Given the description of an element on the screen output the (x, y) to click on. 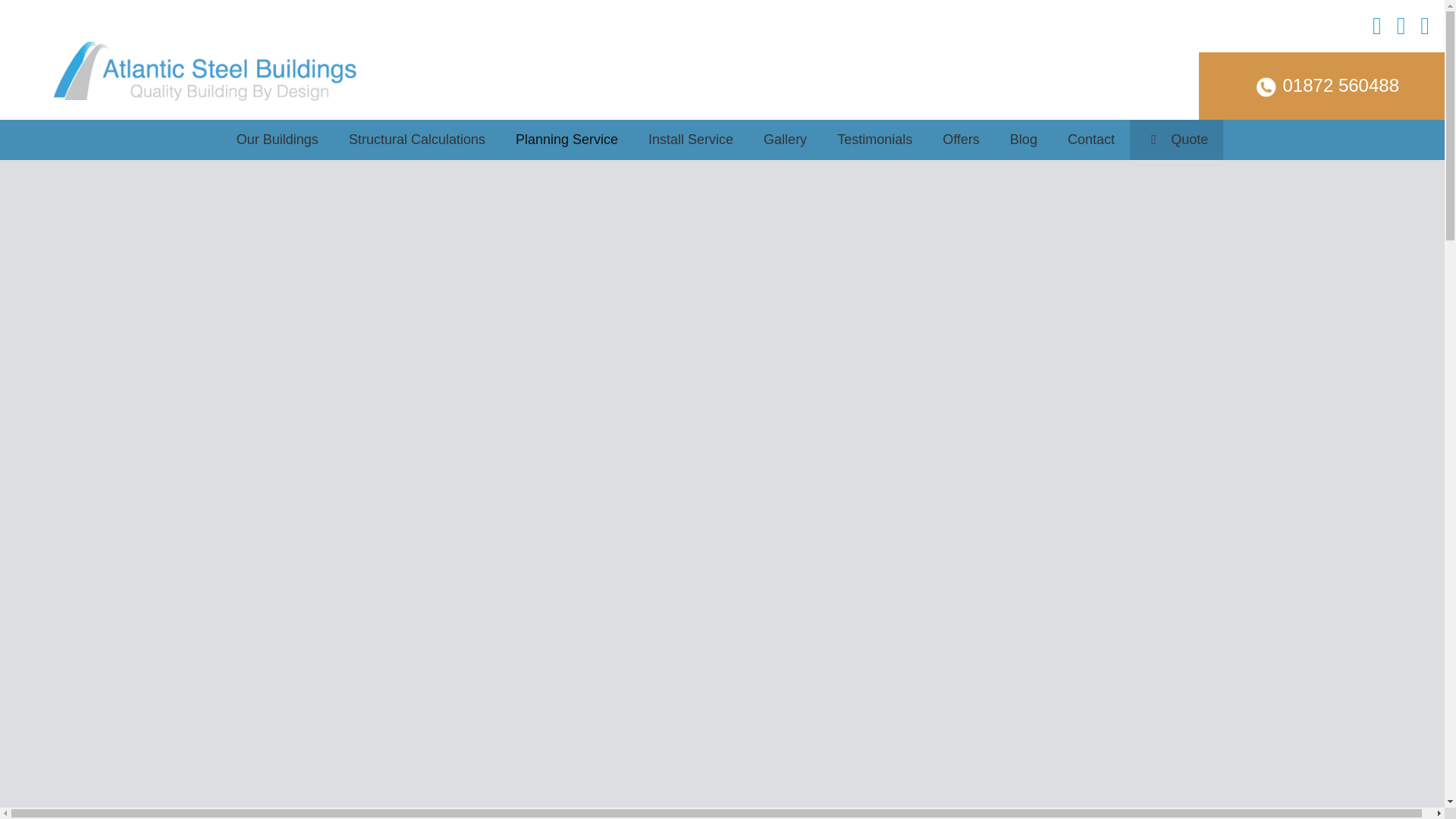
Testimonials (874, 139)
Quote (1176, 139)
Install Service (690, 139)
   01872 560488 (1321, 85)
Contact (1090, 139)
Our Buildings (277, 139)
Blog (1023, 139)
   01872 560488 (1321, 87)
Offers (960, 139)
Structural Calculations (416, 139)
